Given the description of an element on the screen output the (x, y) to click on. 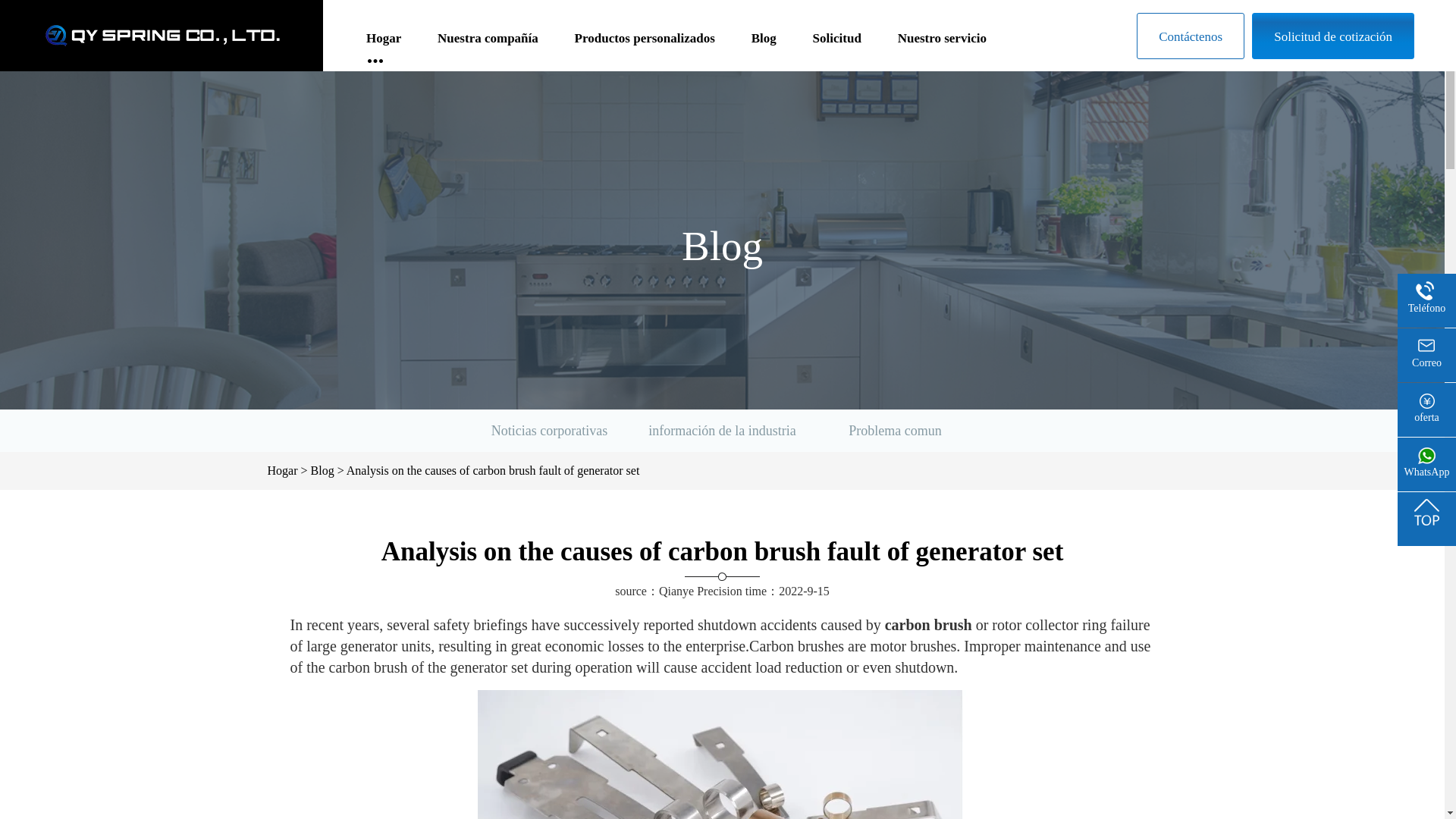
Productos personalizados (644, 45)
Nuestro servicio (942, 45)
Solicitud (836, 45)
